Given the description of an element on the screen output the (x, y) to click on. 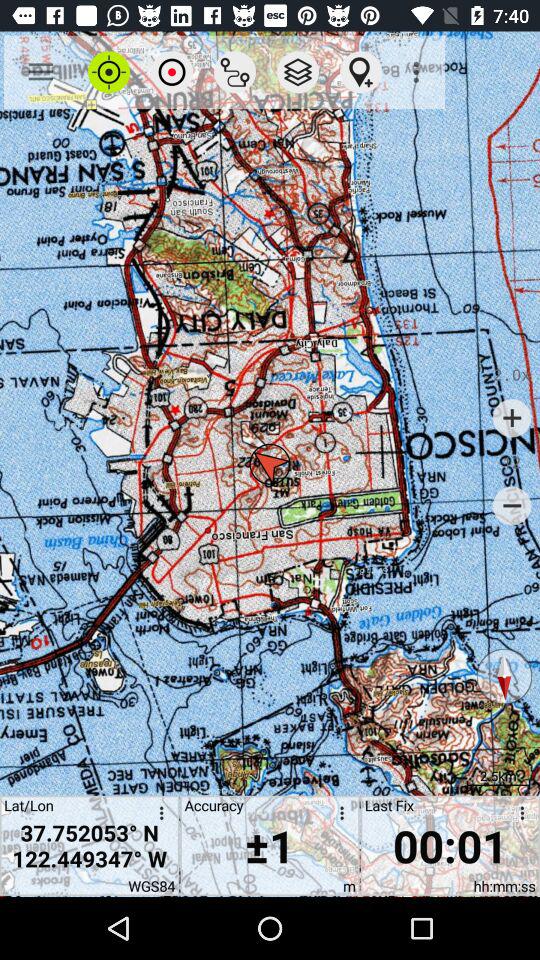
open icon above 00:02 icon (504, 676)
